Given the description of an element on the screen output the (x, y) to click on. 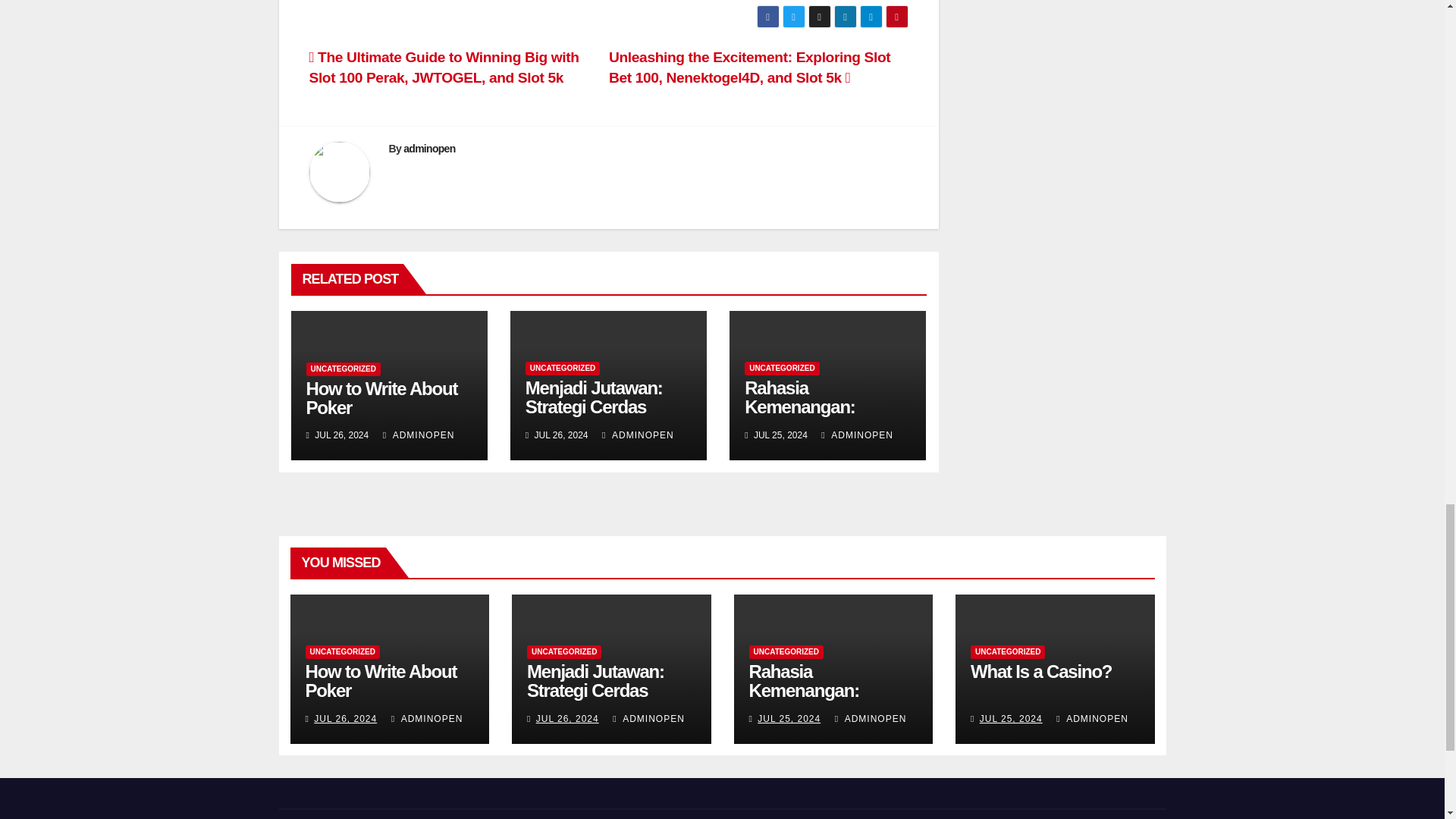
How to Write About Poker (381, 397)
Permalink to: How to Write About Poker (381, 397)
adminopen (428, 148)
ADMINOPEN (418, 434)
ADMINOPEN (638, 434)
ADMINOPEN (857, 434)
Permalink to: What Is a Casino? (1041, 670)
UNCATEGORIZED (781, 368)
